Given the description of an element on the screen output the (x, y) to click on. 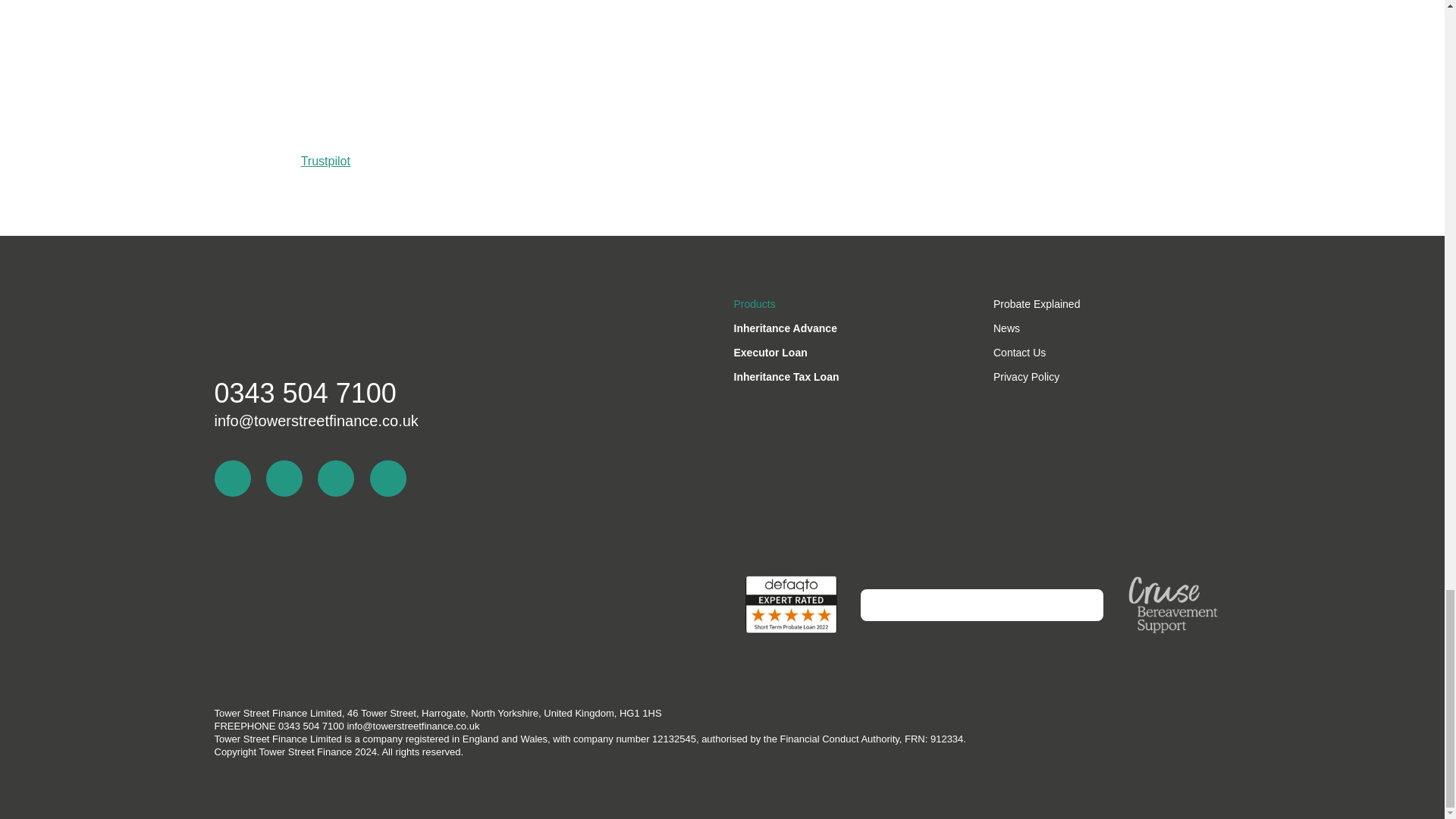
YouTube (335, 478)
Trustpilot (325, 160)
Facebook (284, 478)
Inheritance Tax Loan (852, 376)
LinkedIn (232, 478)
News (1111, 328)
0343 504 7100 (305, 392)
Instagram (387, 478)
Probate Explained (1111, 304)
Privacy Policy (1111, 376)
